Given the description of an element on the screen output the (x, y) to click on. 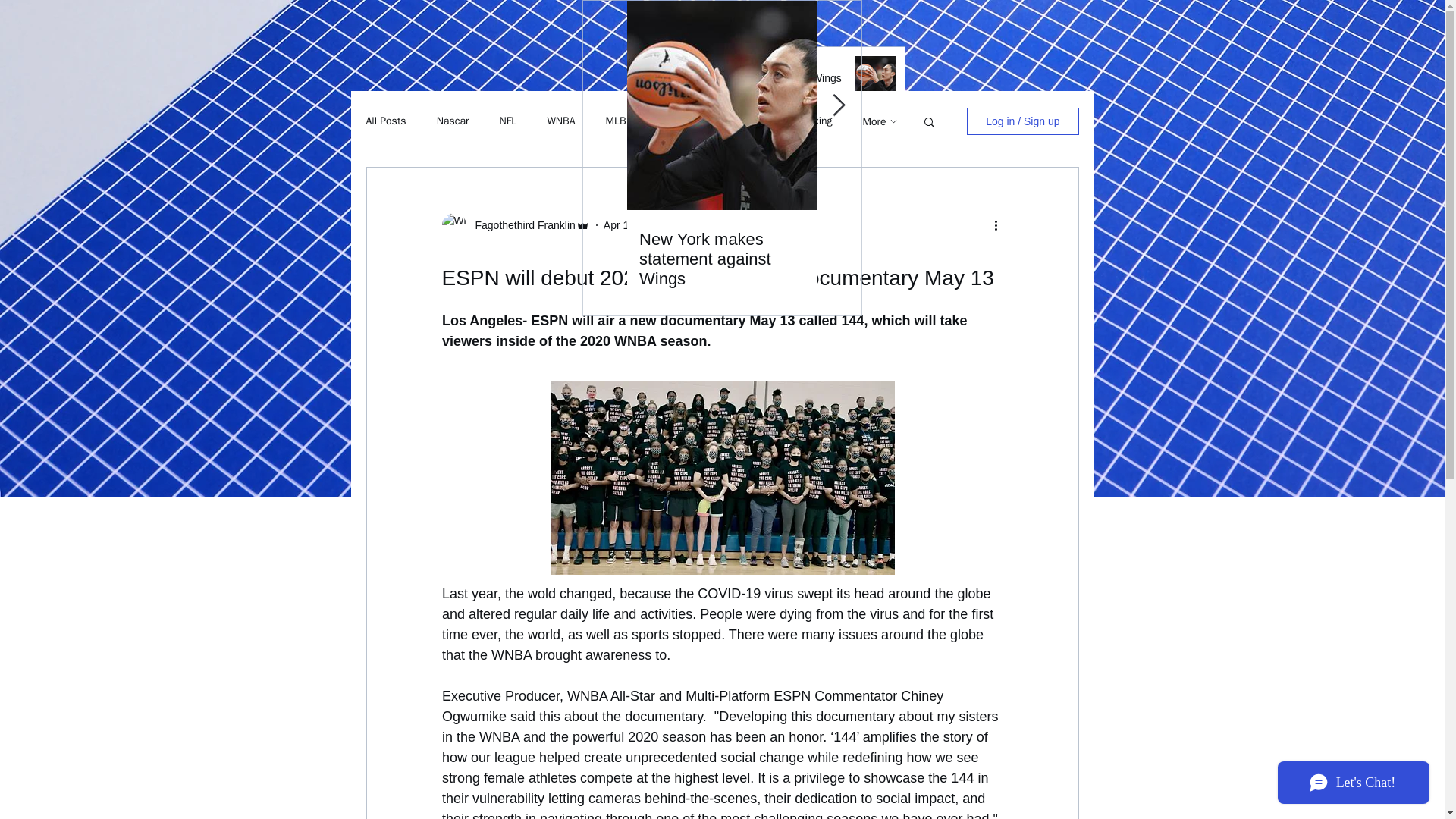
Nascar (452, 120)
New York makes statement against Wings (722, 259)
New York makes statement against Wings (783, 73)
MLB (615, 120)
1 min read (703, 224)
Rams defeat Chargers 13-9 (912, 249)
Rams defeat Chargers 13-9 (783, 169)
Apr 15, 2021 (633, 224)
Fagothethird Franklin (520, 224)
